Given the description of an element on the screen output the (x, y) to click on. 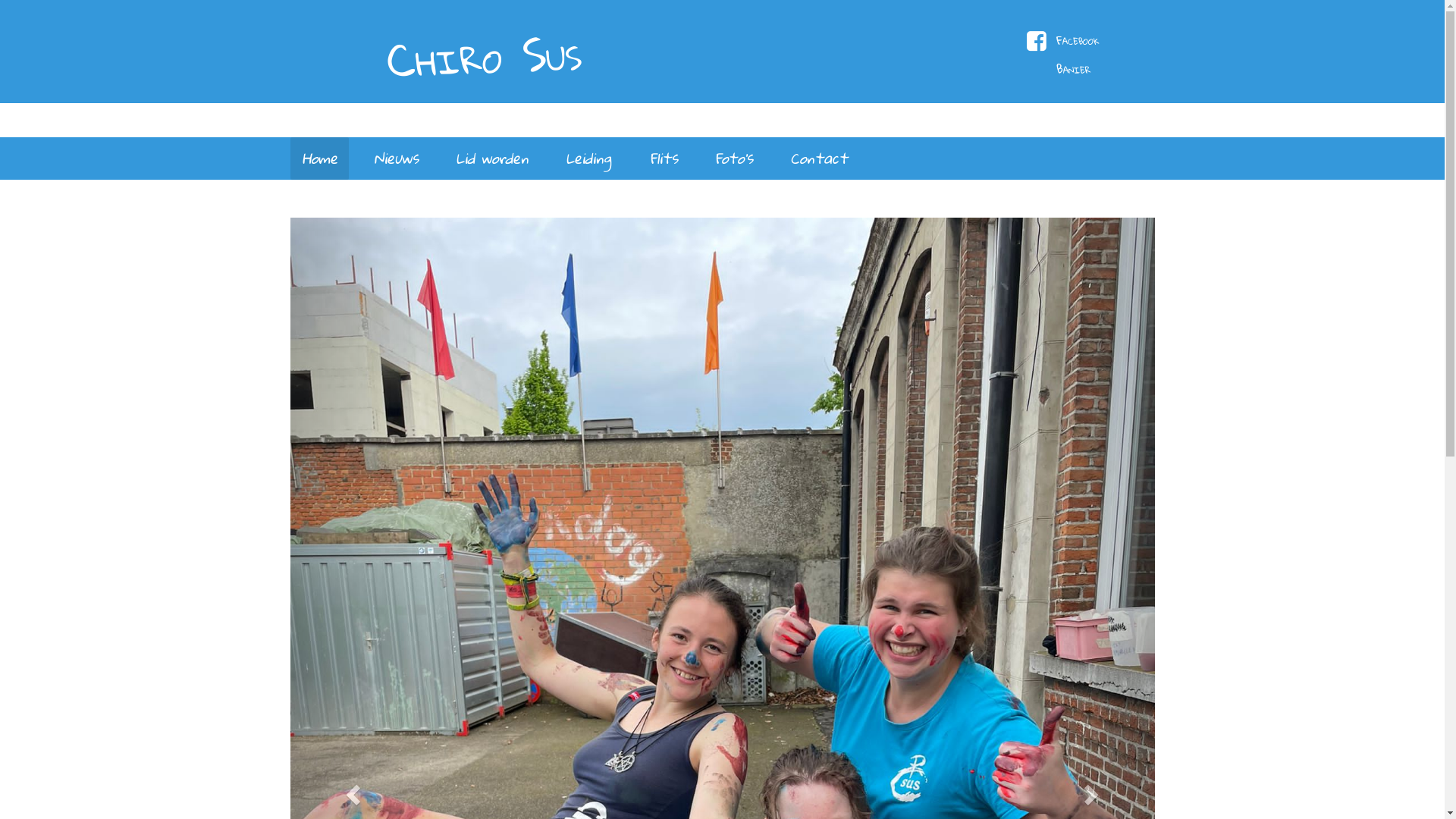
Banier Element type: text (1082, 70)
Flits Element type: text (662, 158)
Chiro Sus Element type: text (441, 49)
Contact Element type: text (818, 158)
Facebook Element type: text (1082, 41)
Lid worden Element type: text (491, 158)
Leiding Element type: text (588, 158)
Home Element type: text (318, 158)
Nieuws Element type: text (395, 158)
